Given the description of an element on the screen output the (x, y) to click on. 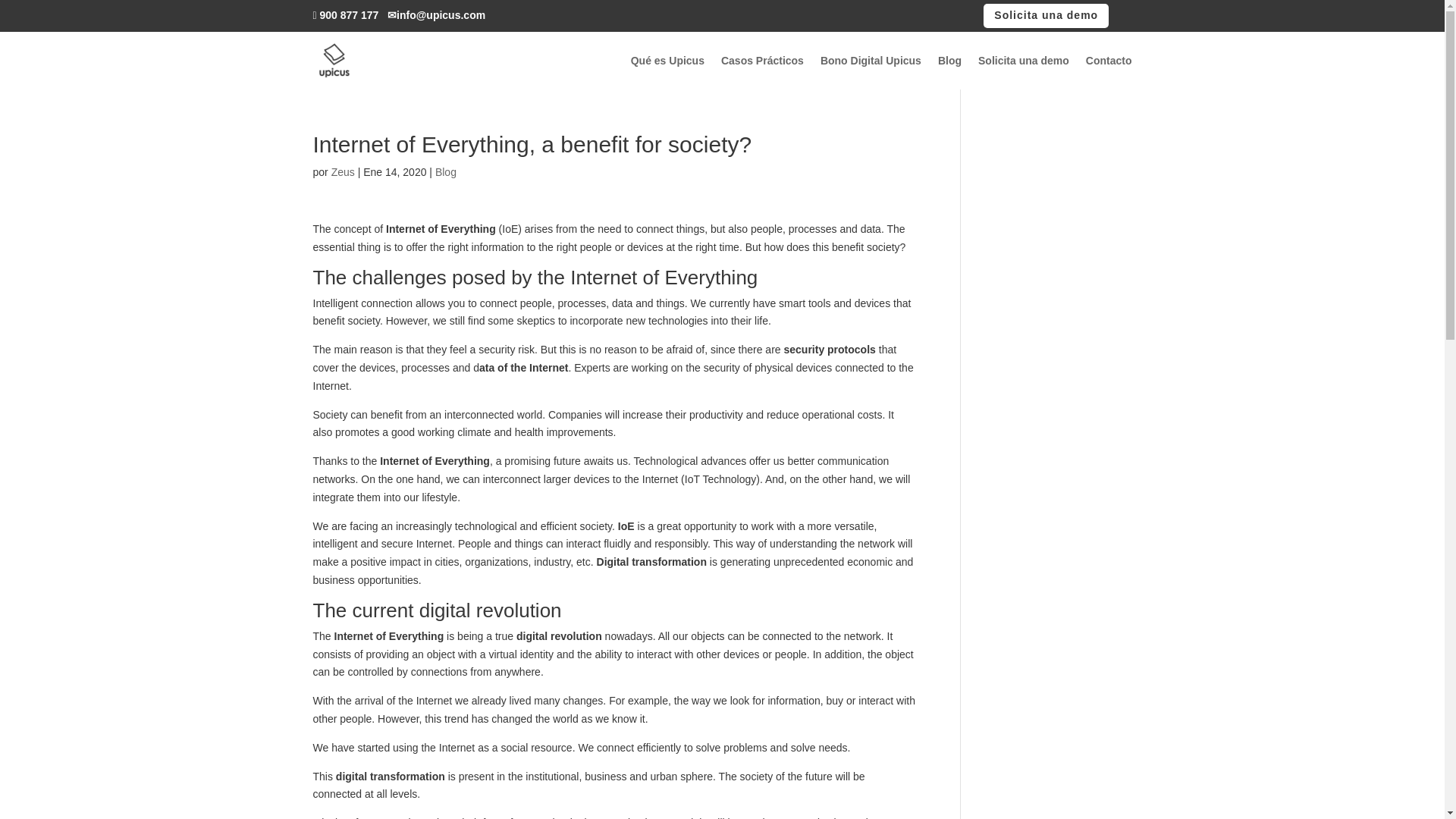
Zeus (343, 172)
Solicita una demo (1023, 60)
Blog (446, 172)
Solicita una demo (1046, 15)
Mensajes de Zeus (343, 172)
Bono Digital Upicus (871, 60)
